Given the description of an element on the screen output the (x, y) to click on. 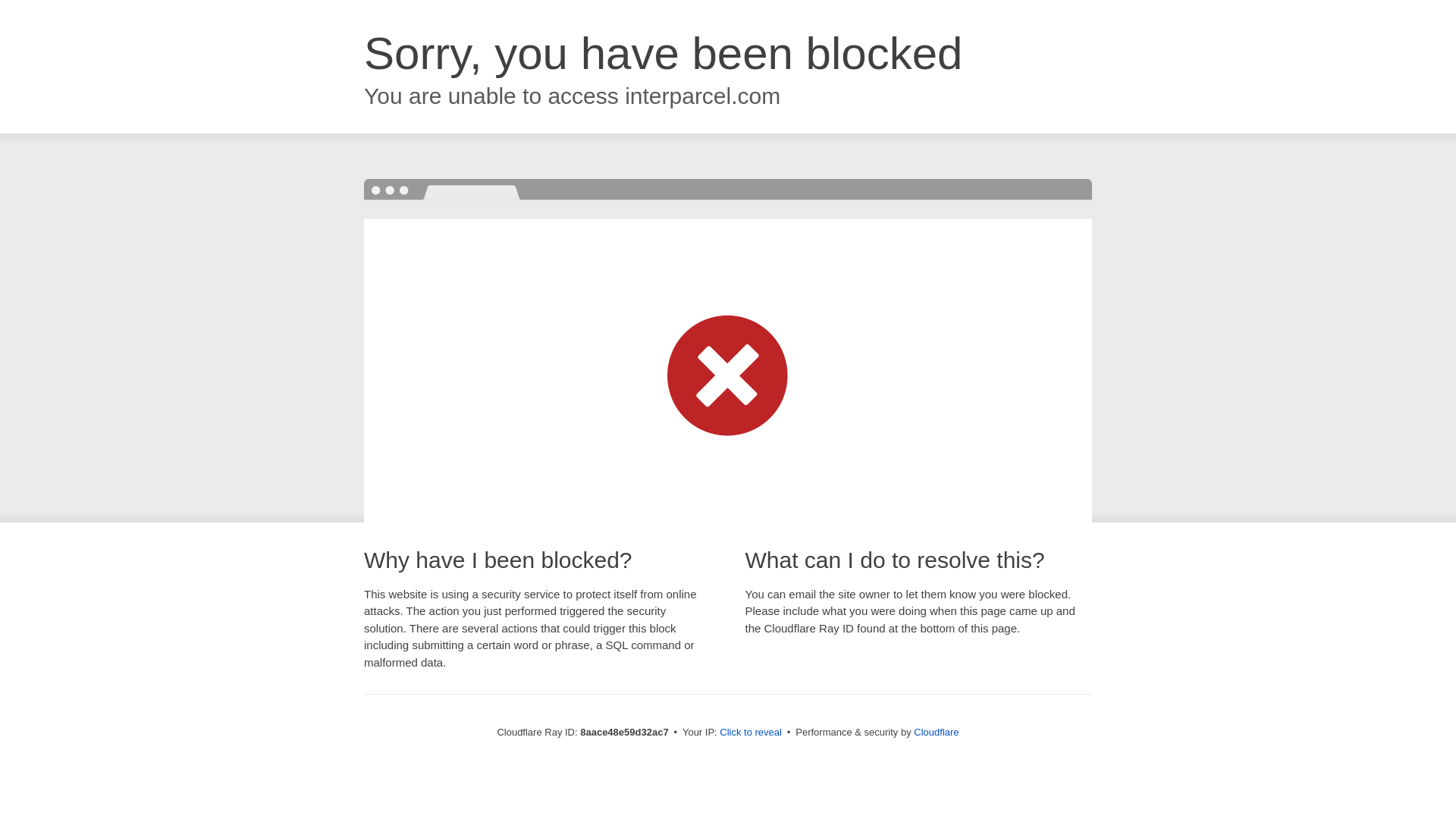
Click to reveal (750, 732)
Cloudflare (936, 731)
